Given the description of an element on the screen output the (x, y) to click on. 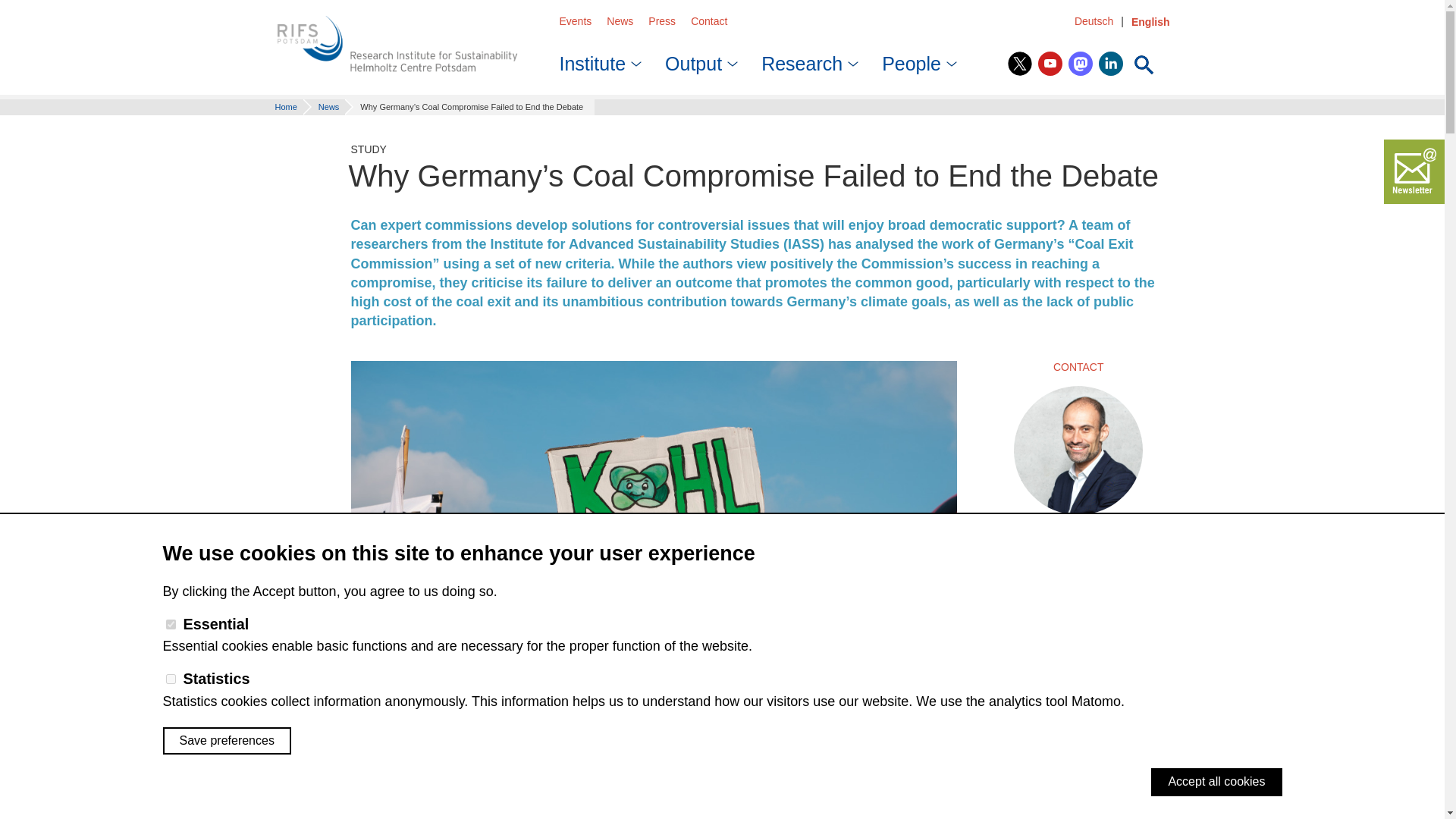
Events (575, 21)
Mastodon (1080, 63)
zur Seite: News (322, 106)
Home (398, 44)
YouTube (1050, 63)
Institute (597, 59)
People (915, 59)
Twitter X (1019, 63)
Research (805, 59)
Press (661, 21)
